Given the description of an element on the screen output the (x, y) to click on. 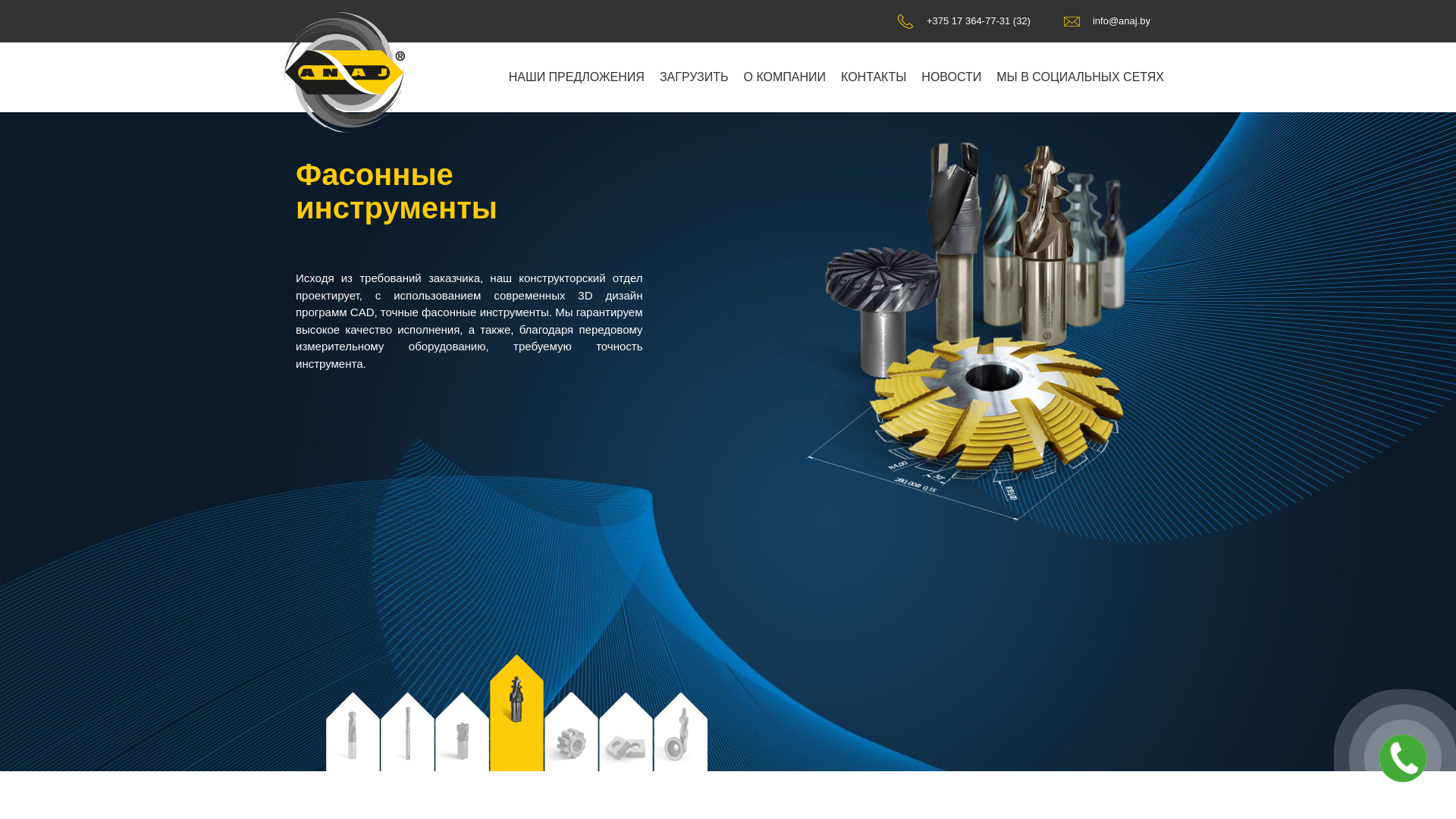
info@anaj.by Element type: text (1106, 20)
